Given the description of an element on the screen output the (x, y) to click on. 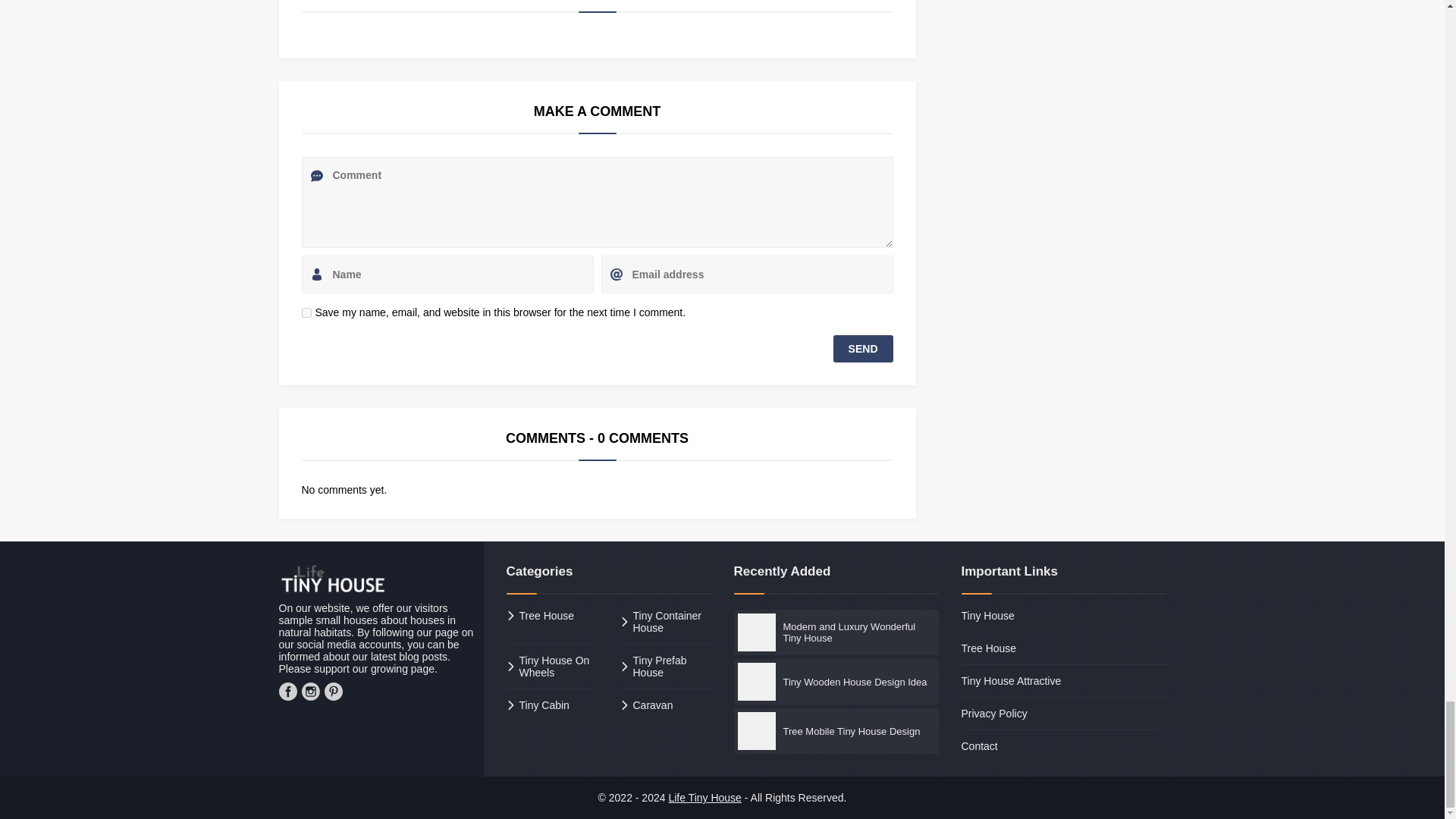
Send (862, 348)
yes (306, 312)
